Given the description of an element on the screen output the (x, y) to click on. 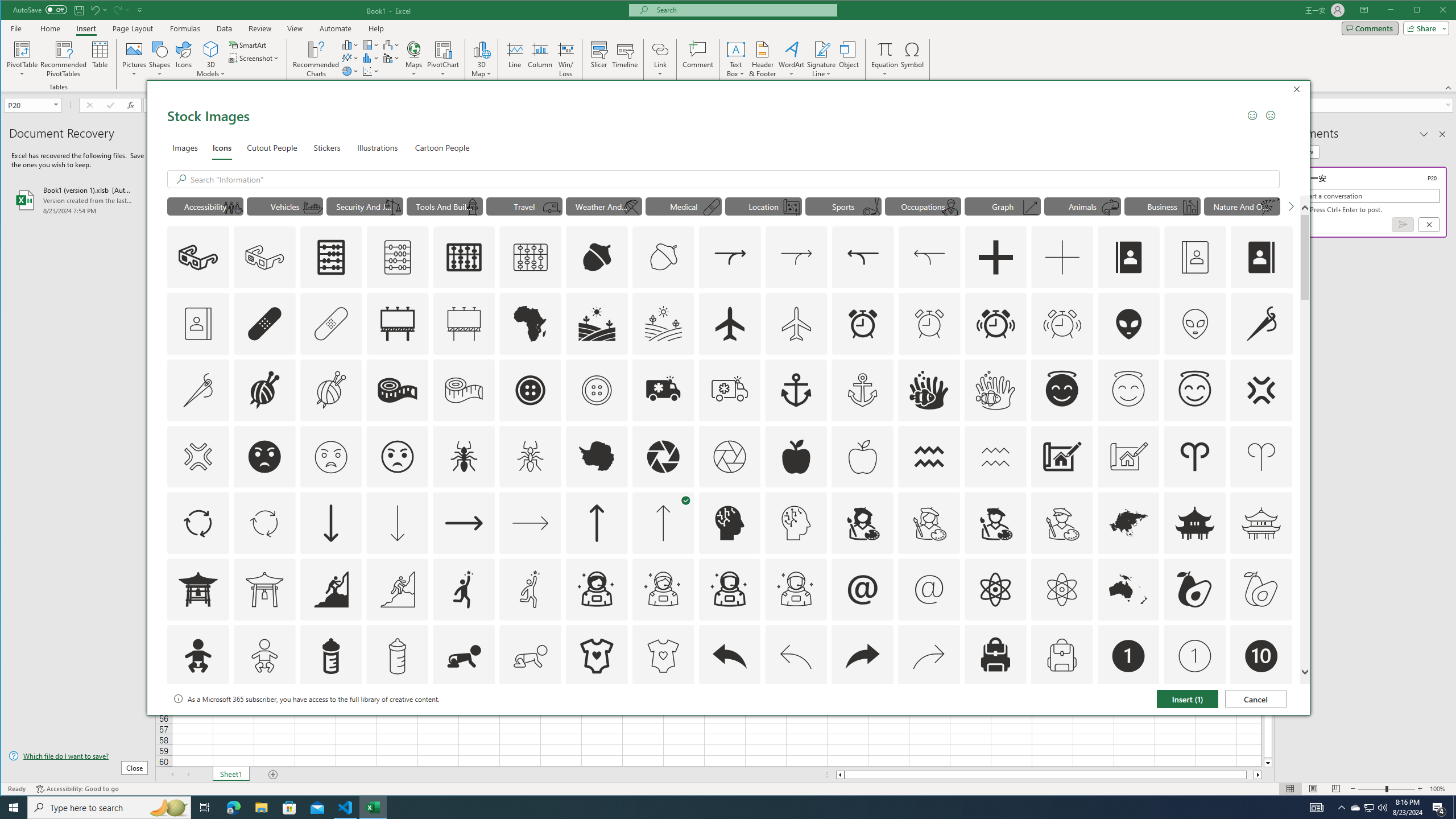
AutomationID: Icons_BabyBottle_M (397, 655)
"Sports" Icons. (842, 206)
AutomationID: Icons_AdhesiveBandage (264, 323)
AutomationID: Icons_At (863, 589)
AutomationID: Icons_AsianTemple (1194, 522)
Next Search Suggestion (1290, 206)
AutomationID: Icons_AlarmRinging_M (1062, 323)
Cutout People (272, 147)
AutomationID: Icons_AddressBook_LTR (1128, 256)
AutomationID: Icons_Agriculture (596, 323)
AutomationID: Icons_Add_M (1062, 256)
